Given the description of an element on the screen output the (x, y) to click on. 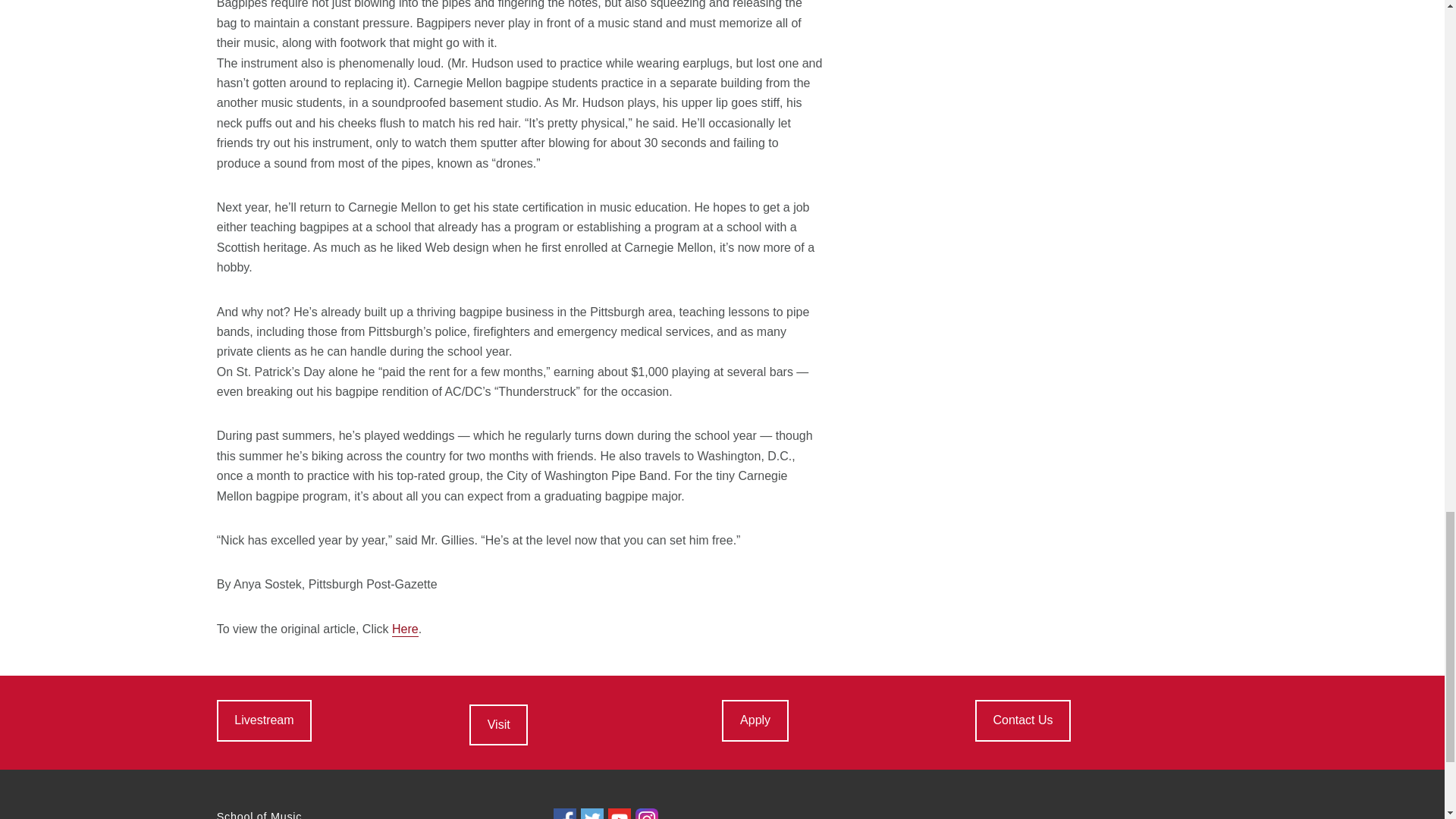
Here (405, 629)
Apply (754, 720)
Visit (497, 724)
Apply button (754, 720)
CMU on Instagram (646, 813)
CMU YouTube Channel (619, 813)
Contact Us (1022, 720)
CMU on Twitter (592, 813)
Livestream (263, 720)
CMU Music Youtube (263, 720)
CMU on Facebook (564, 813)
